Given the description of an element on the screen output the (x, y) to click on. 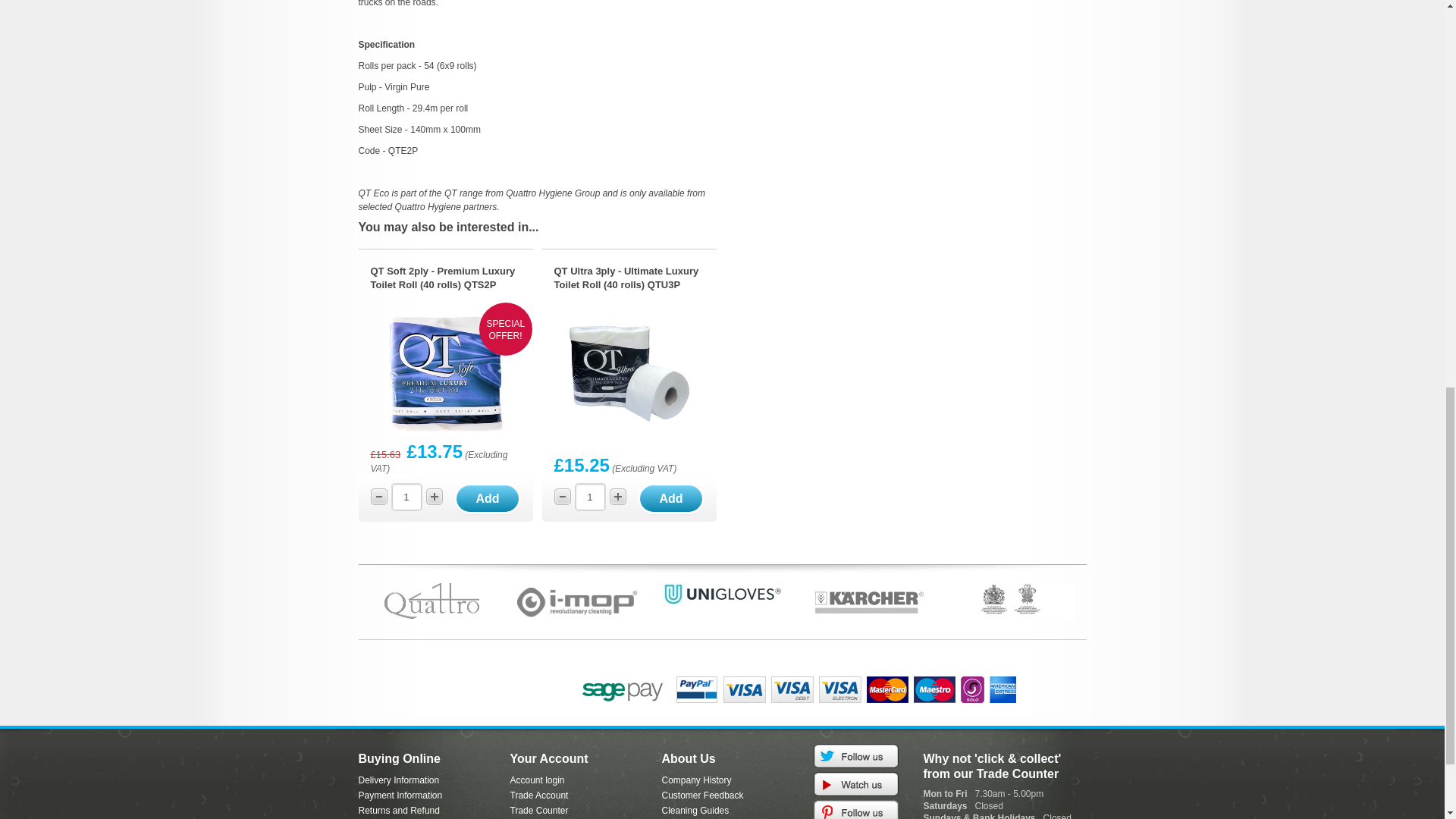
1 (405, 497)
1 (589, 497)
